Given the description of an element on the screen output the (x, y) to click on. 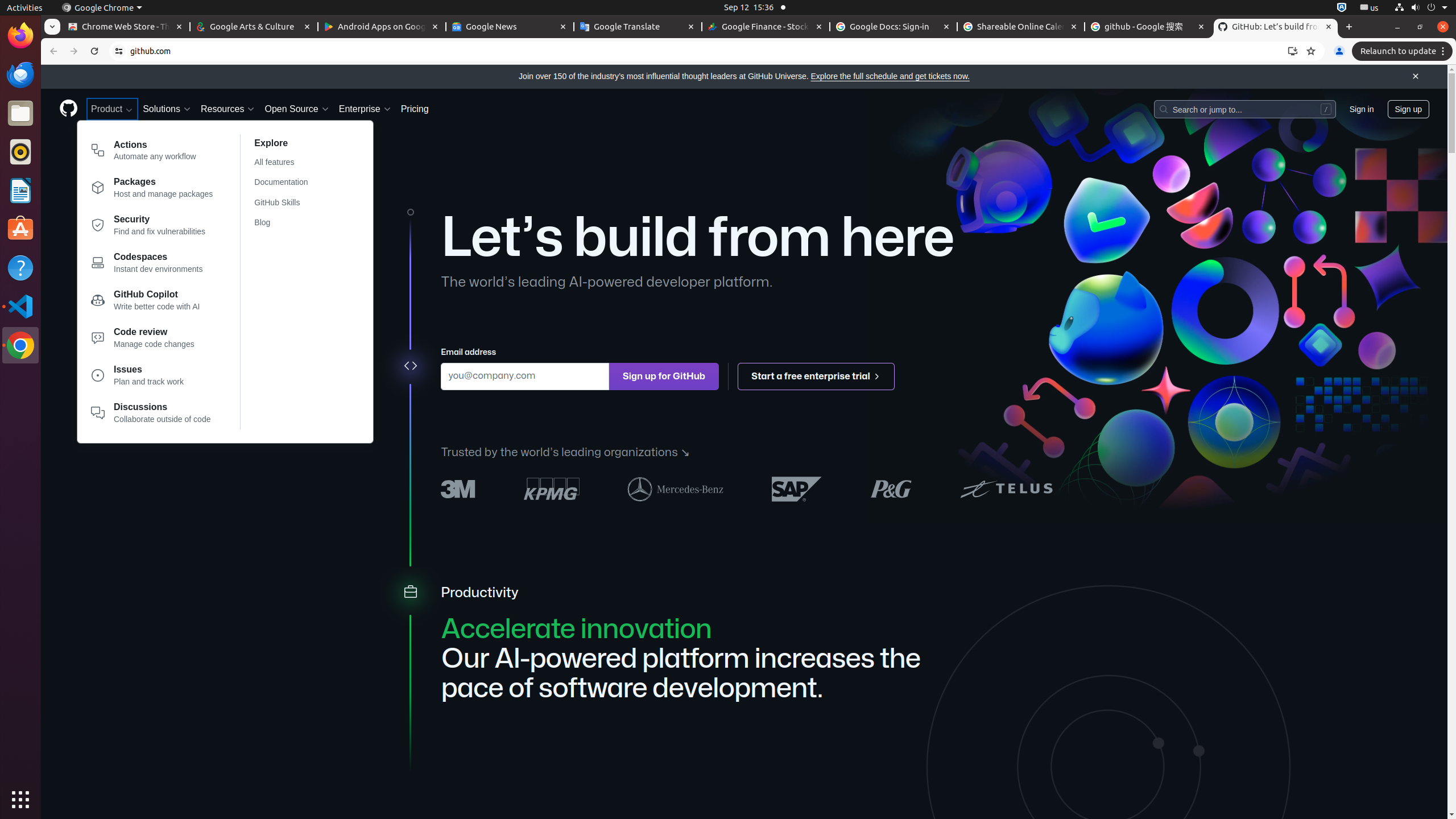
Homepage Element type: link (68, 108)
Help Element type: push-button (20, 267)
Show Applications Element type: toggle-button (20, 799)
:1.72/StatusNotifierItem Element type: menu (1341, 7)
Documentation Element type: link (287, 182)
